Given the description of an element on the screen output the (x, y) to click on. 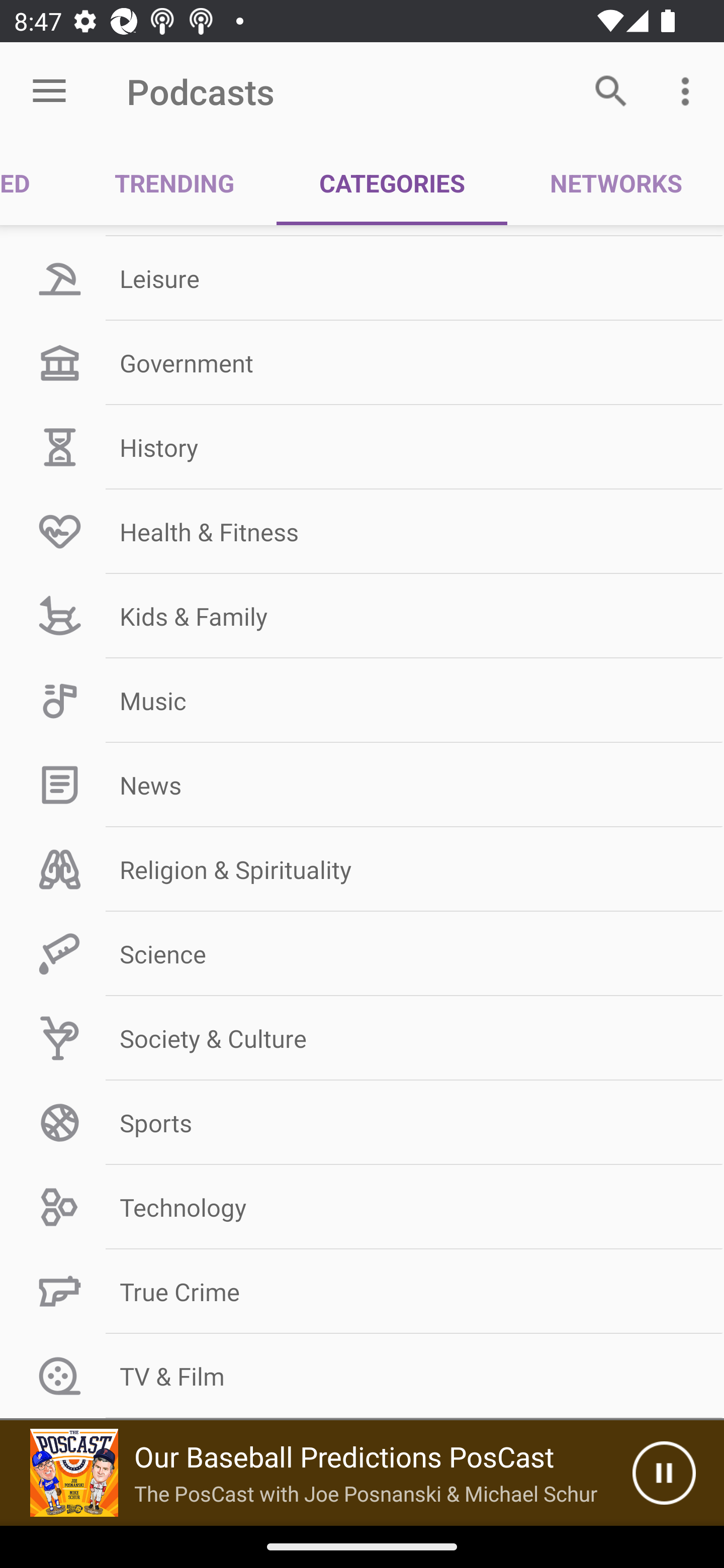
Open menu (49, 91)
Search (611, 90)
More options (688, 90)
TRENDING (174, 183)
CATEGORIES (391, 183)
NETWORKS (615, 183)
Leisure (362, 277)
Government (362, 361)
History (362, 446)
Health & Fitness (362, 531)
Kids & Family (362, 615)
Music (362, 700)
News (362, 785)
Religion & Spirituality (362, 869)
Science (362, 953)
Society & Culture (362, 1037)
Sports (362, 1122)
Technology (362, 1207)
True Crime (362, 1291)
TV & Film (362, 1375)
Pause (663, 1472)
